Given the description of an element on the screen output the (x, y) to click on. 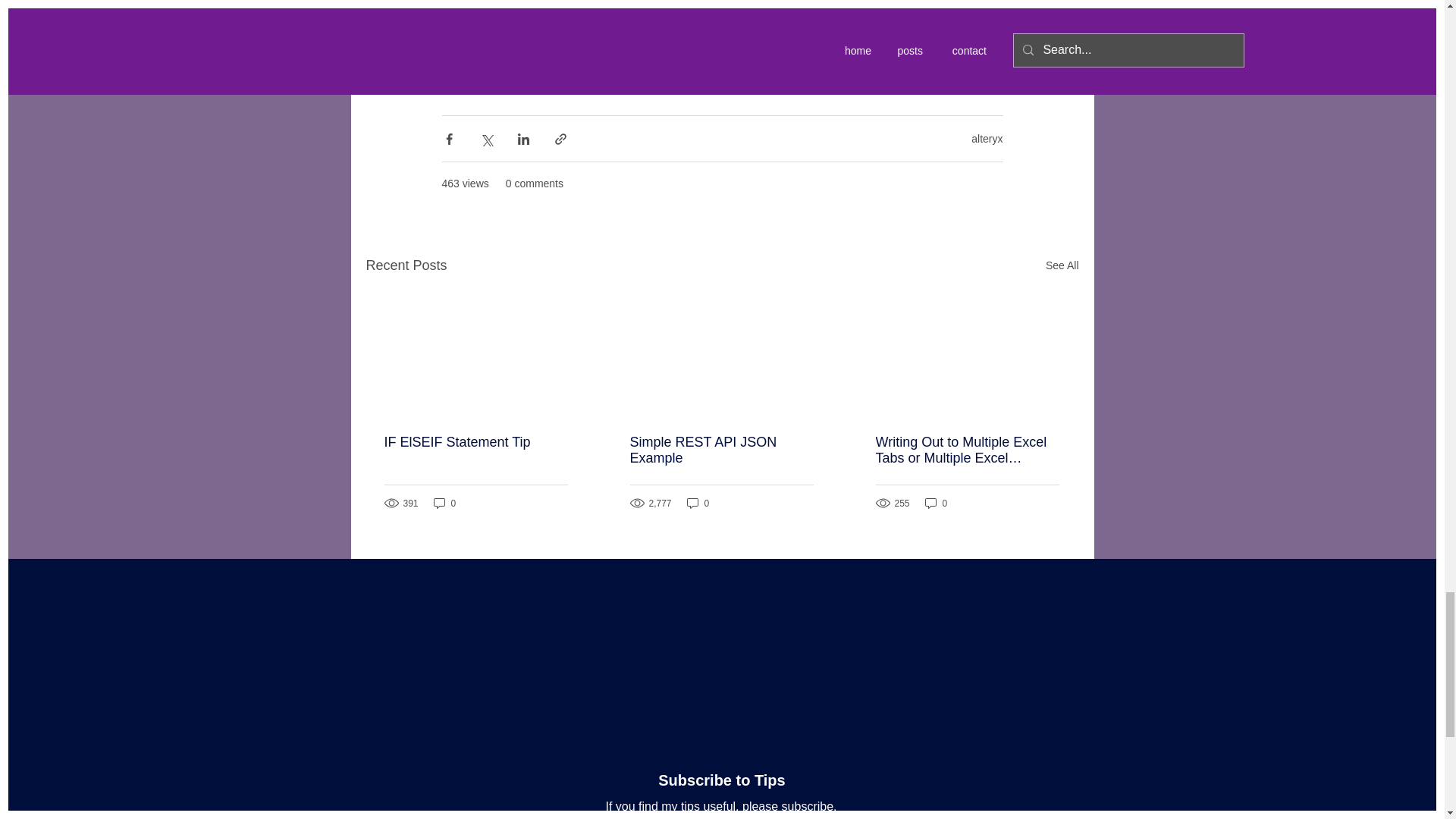
alteryx (987, 138)
IF ElSEIF Statement Tip (475, 442)
0 (445, 503)
0 (698, 503)
Simple REST API JSON Example (720, 450)
See All (1061, 265)
0 (936, 503)
